Given the description of an element on the screen output the (x, y) to click on. 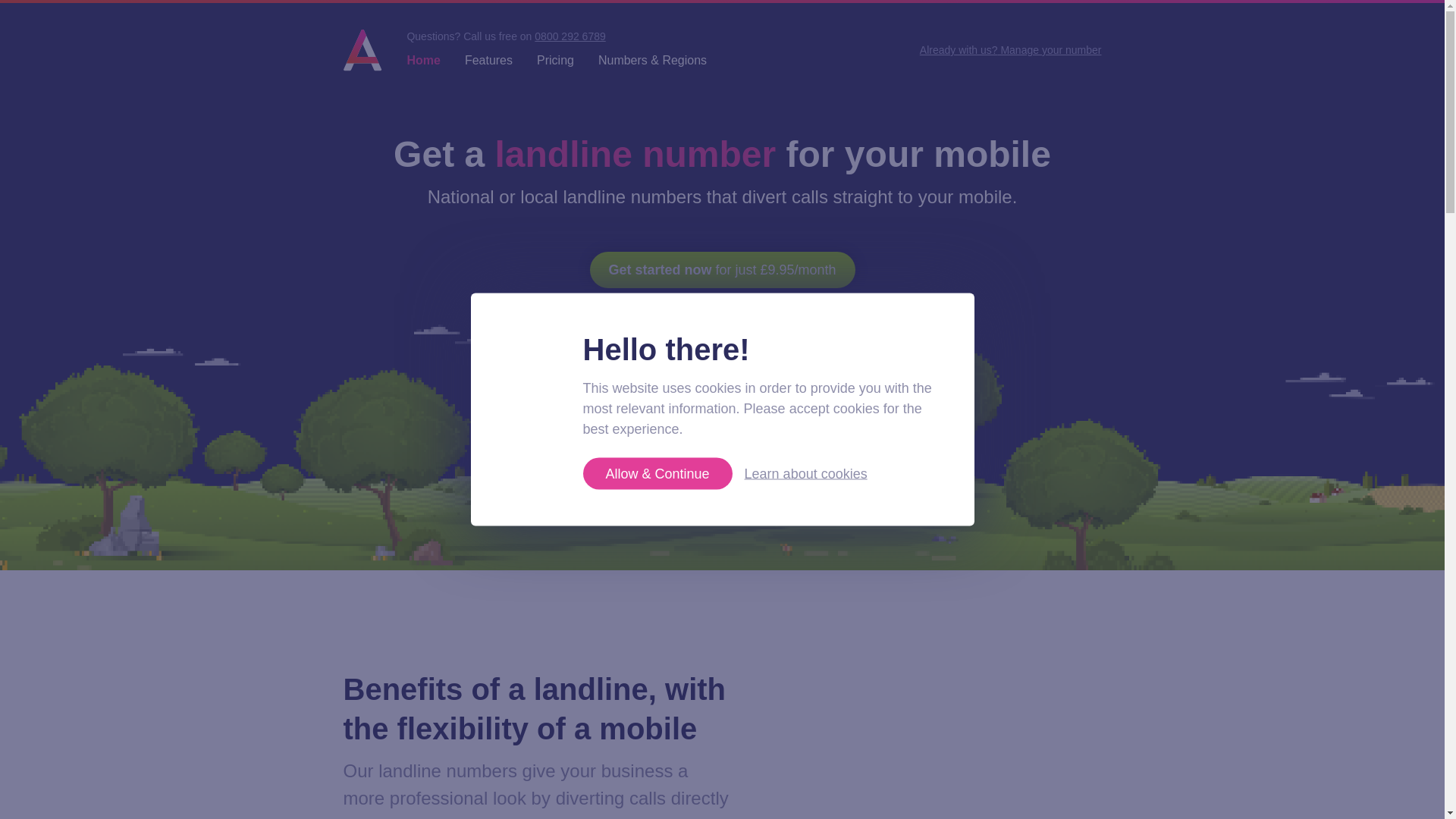
0800 292 6789 (569, 36)
Pricing (555, 60)
Already with us? Manage your number (1011, 50)
Features (488, 60)
Learn about cookies (805, 473)
Home (422, 60)
